Given the description of an element on the screen output the (x, y) to click on. 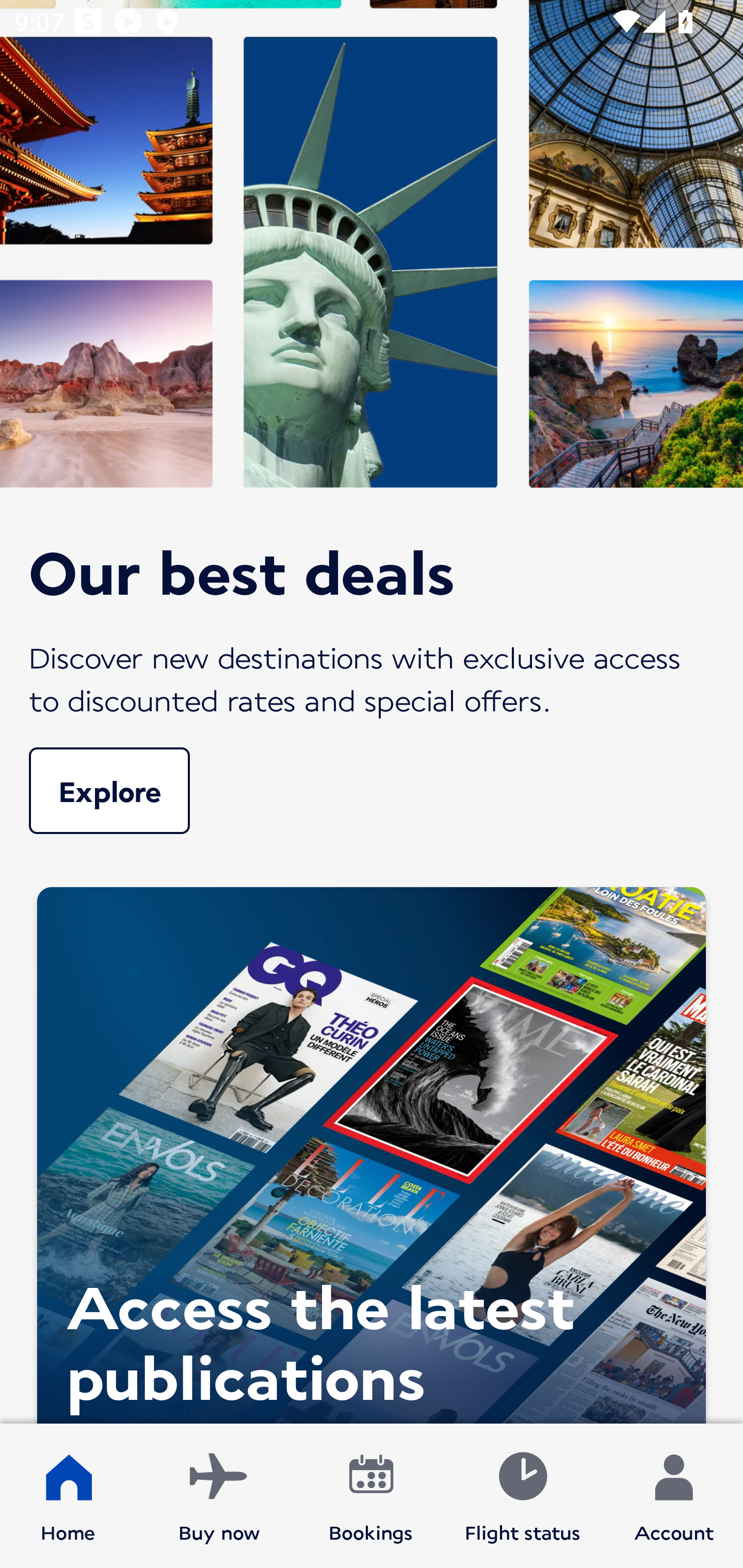
Access the latest publications (371, 1150)
Buy now (219, 1495)
Bookings (370, 1495)
Flight status (522, 1495)
Account (674, 1495)
